Given the description of an element on the screen output the (x, y) to click on. 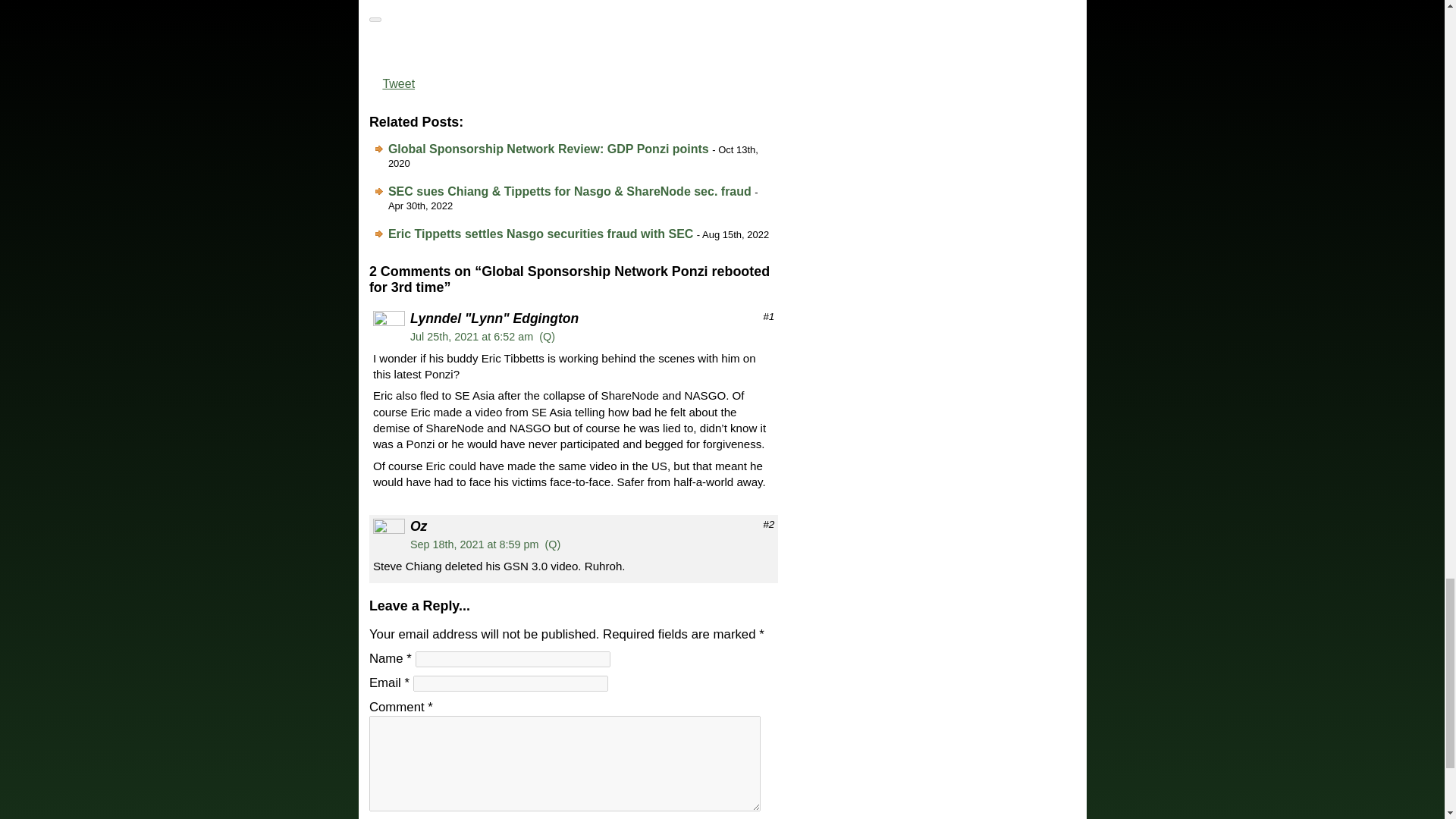
Sep 18th, 2021 at 8:59 pm (474, 544)
Tweet (397, 83)
Jul 25th, 2021 at 6:52 am (471, 336)
Click here or select text to quote comment (552, 544)
Global Sponsorship Network Review: GDP Ponzi points (548, 148)
Eric Tippetts settles Nasgo securities fraud with SEC (540, 233)
Click here or select text to quote comment (546, 336)
